Given the description of an element on the screen output the (x, y) to click on. 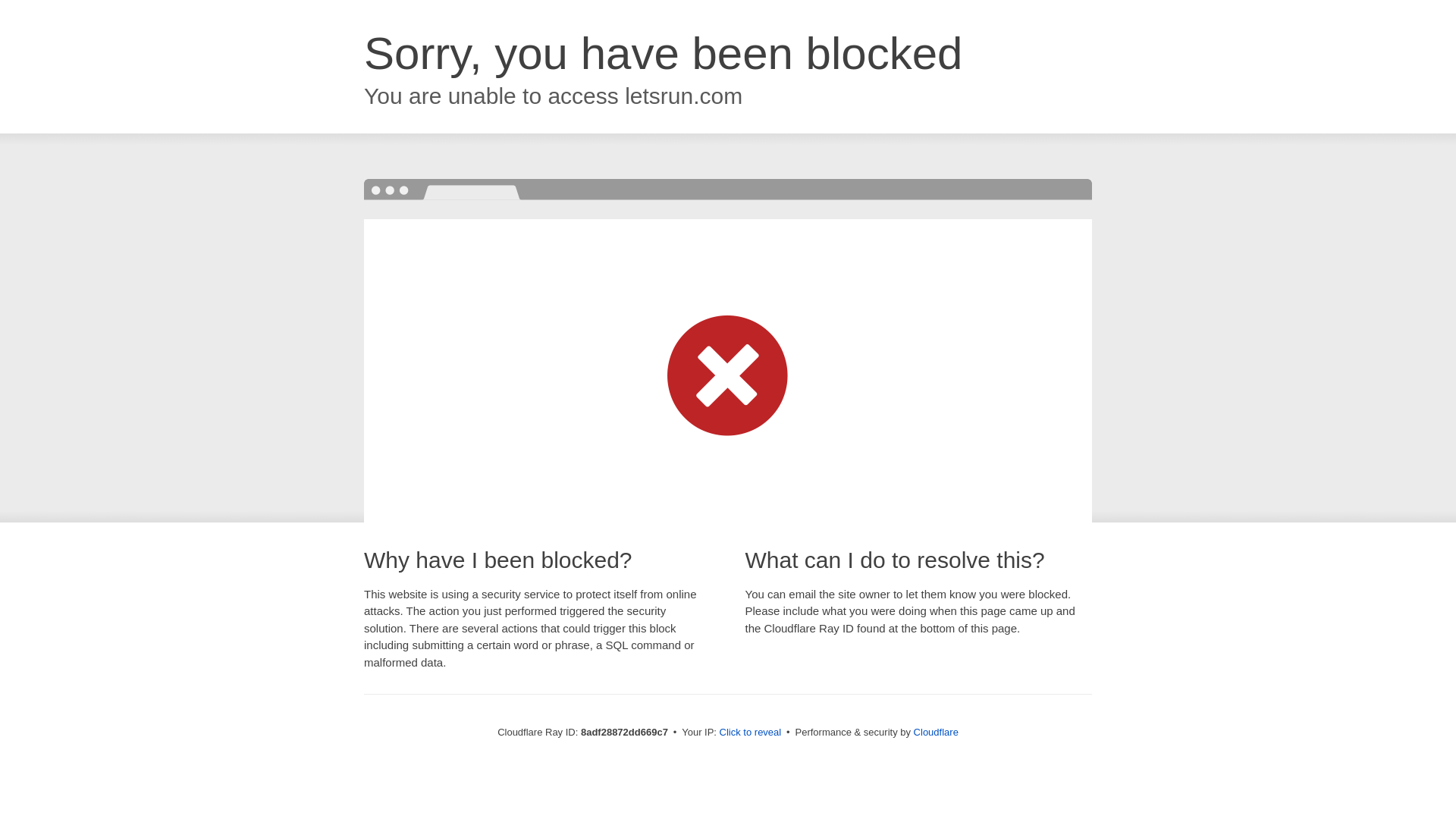
Click to reveal (750, 732)
Cloudflare (936, 731)
